Given the description of an element on the screen output the (x, y) to click on. 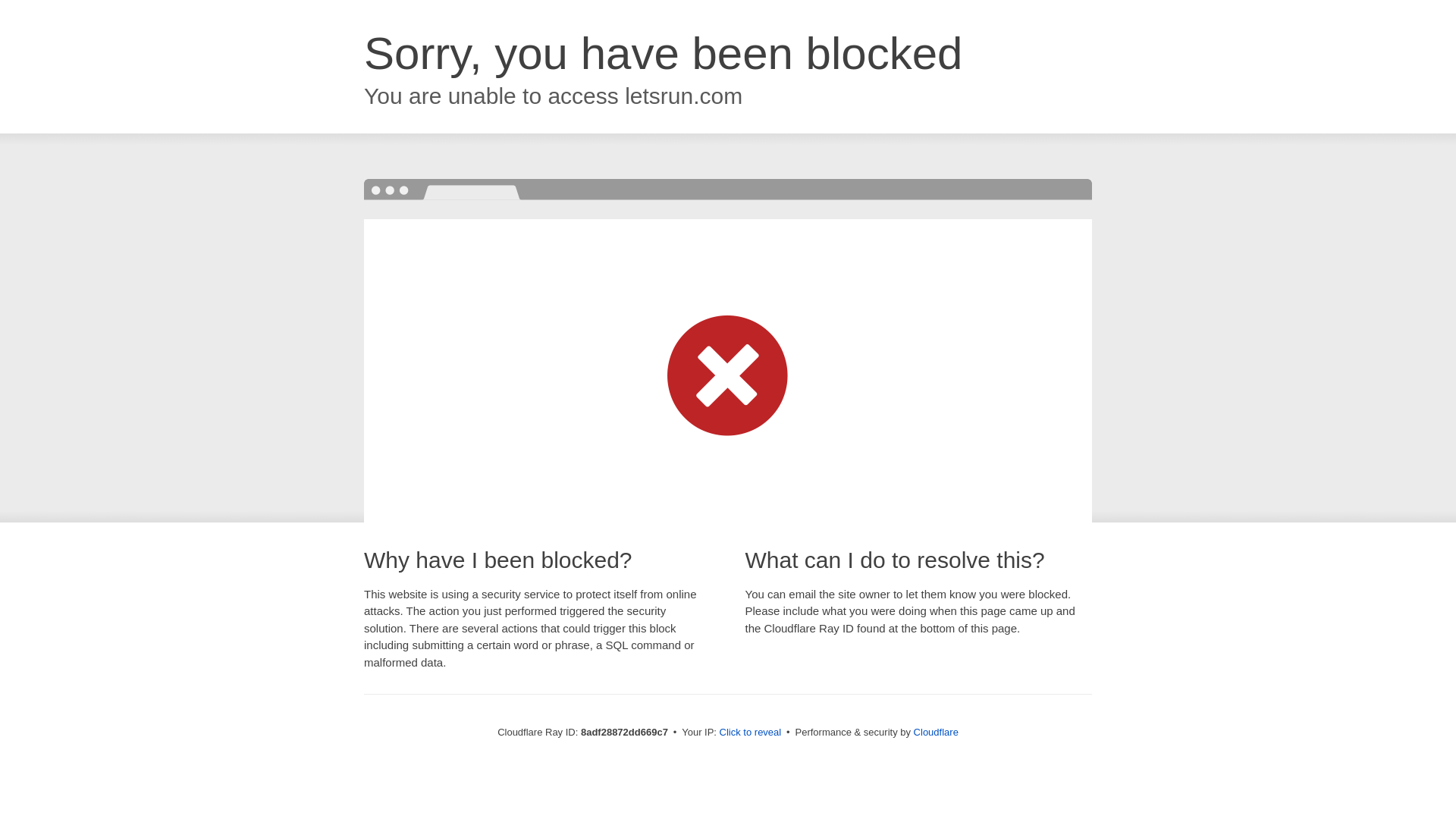
Click to reveal (750, 732)
Cloudflare (936, 731)
